Given the description of an element on the screen output the (x, y) to click on. 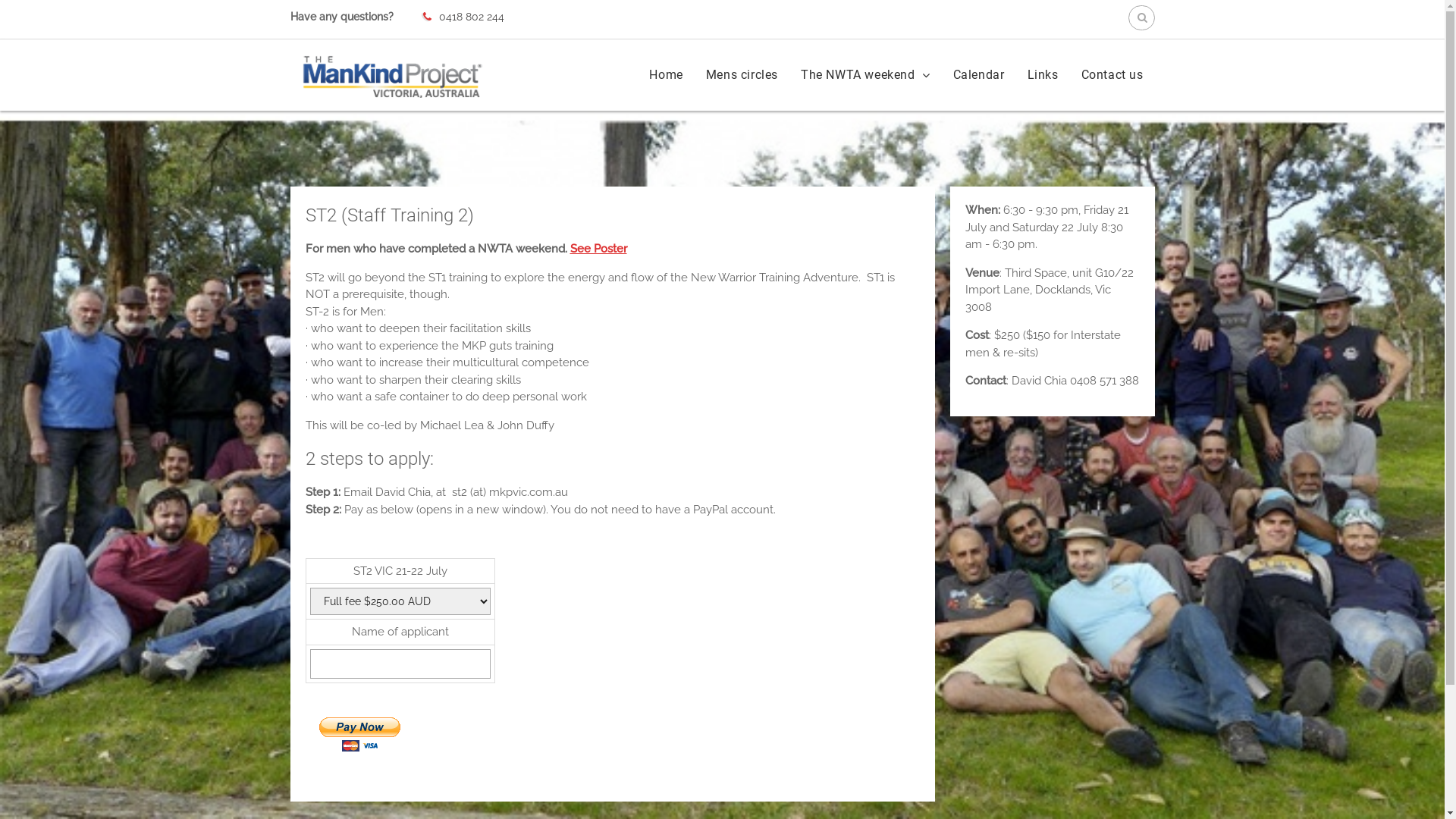
Search for: Element type: hover (1141, 17)
Home Element type: text (665, 74)
The NWTA weekend Element type: text (865, 74)
Links Element type: text (1042, 74)
0418 802 244 Element type: text (470, 16)
Mens circles Element type: text (741, 74)
Contact us Element type: text (1112, 74)
See Poster Element type: text (598, 248)
Calendar Element type: text (978, 74)
